Given the description of an element on the screen output the (x, y) to click on. 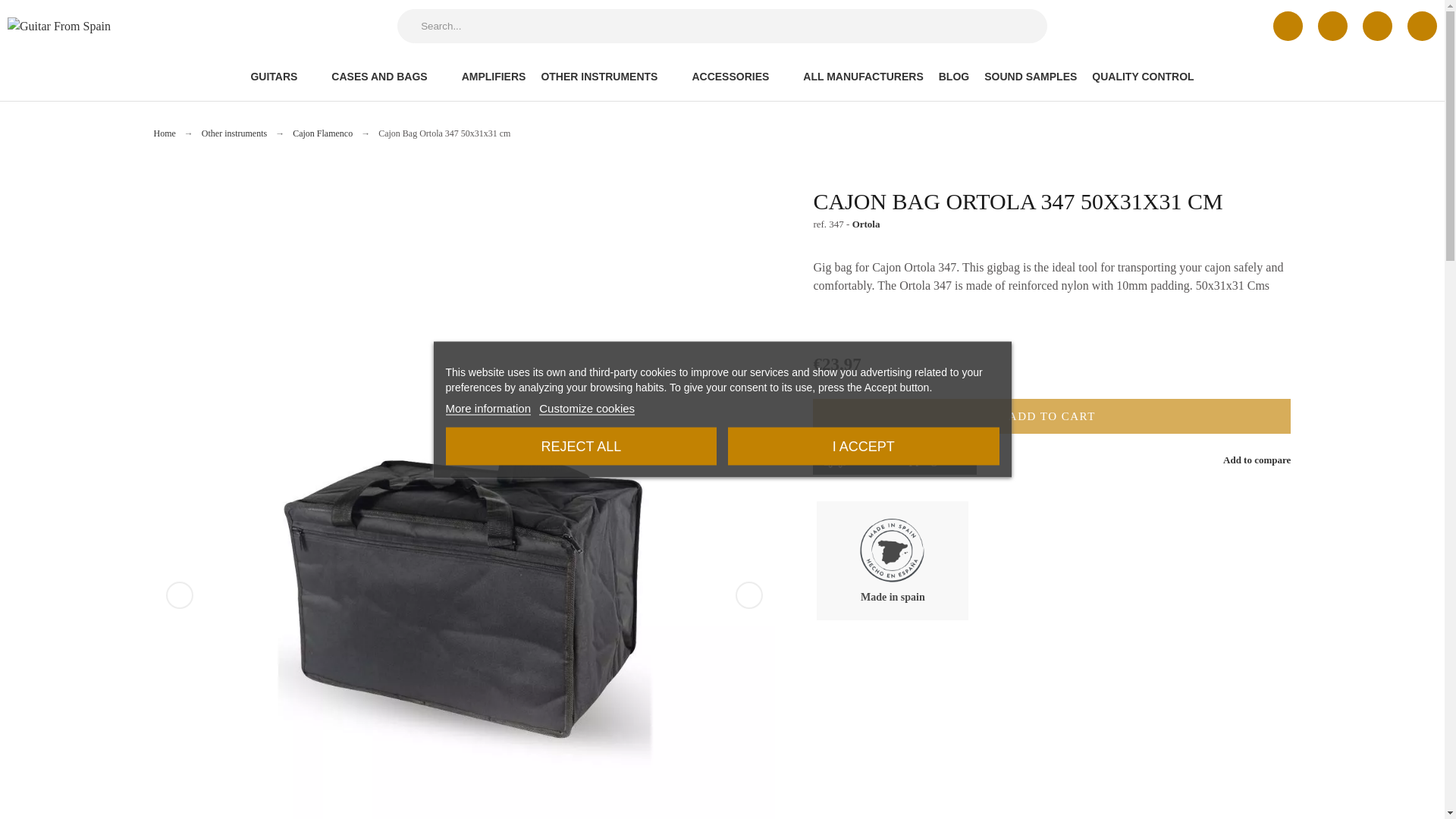
CASES AND BAGS (387, 76)
Guitar From Spain (101, 25)
Add to compare (1244, 460)
GUITARS (286, 76)
